Given the description of an element on the screen output the (x, y) to click on. 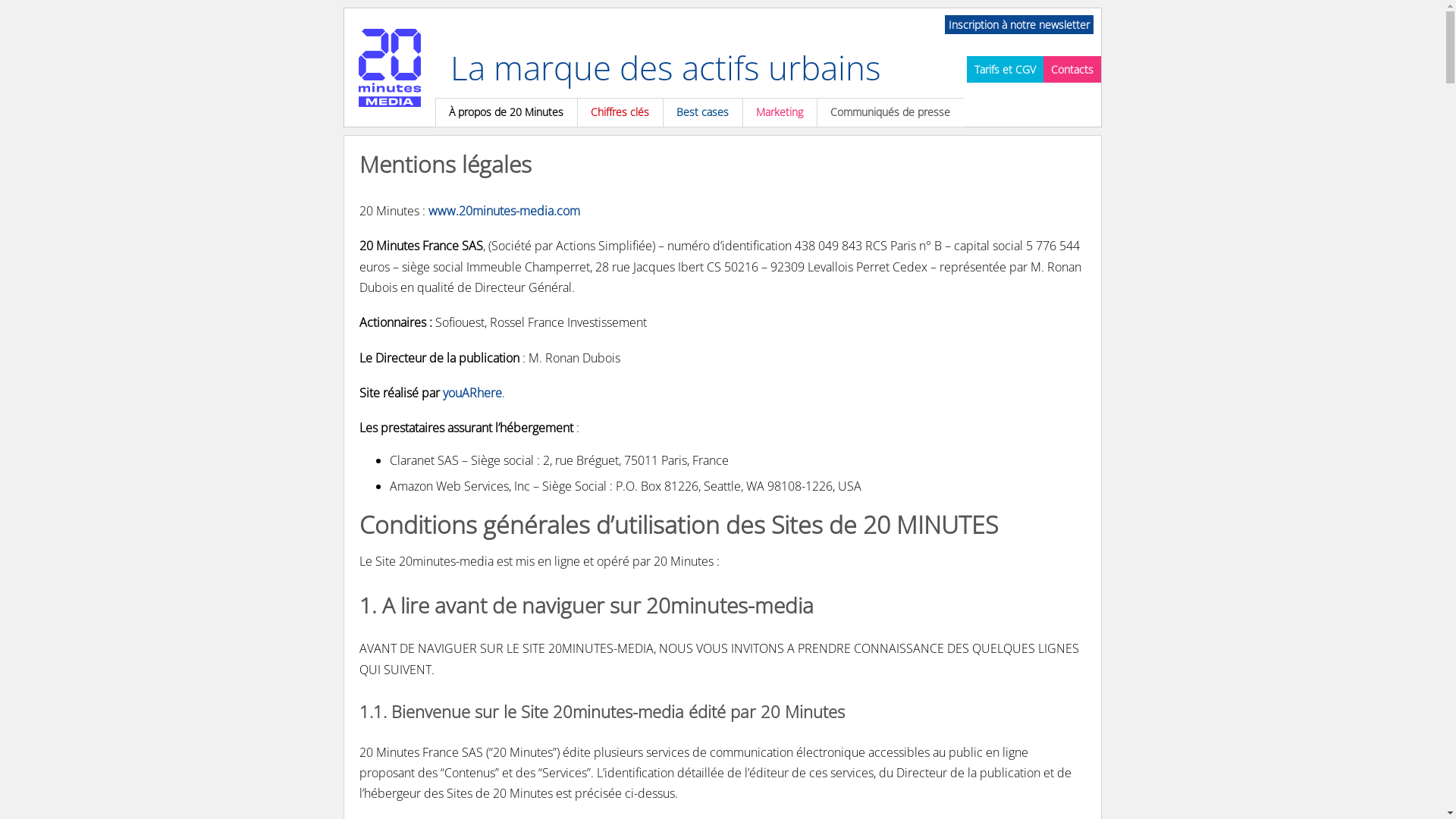
Marketing Element type: text (778, 111)
Contacts Element type: text (1072, 69)
20 Minutes Media Element type: hover (389, 67)
Tarifs et CGV Element type: text (1004, 69)
La marque des actifs urbains Element type: text (665, 67)
www.20minutes-media.com Element type: text (503, 210)
Best cases Element type: text (702, 111)
youARhere Element type: text (472, 392)
